Given the description of an element on the screen output the (x, y) to click on. 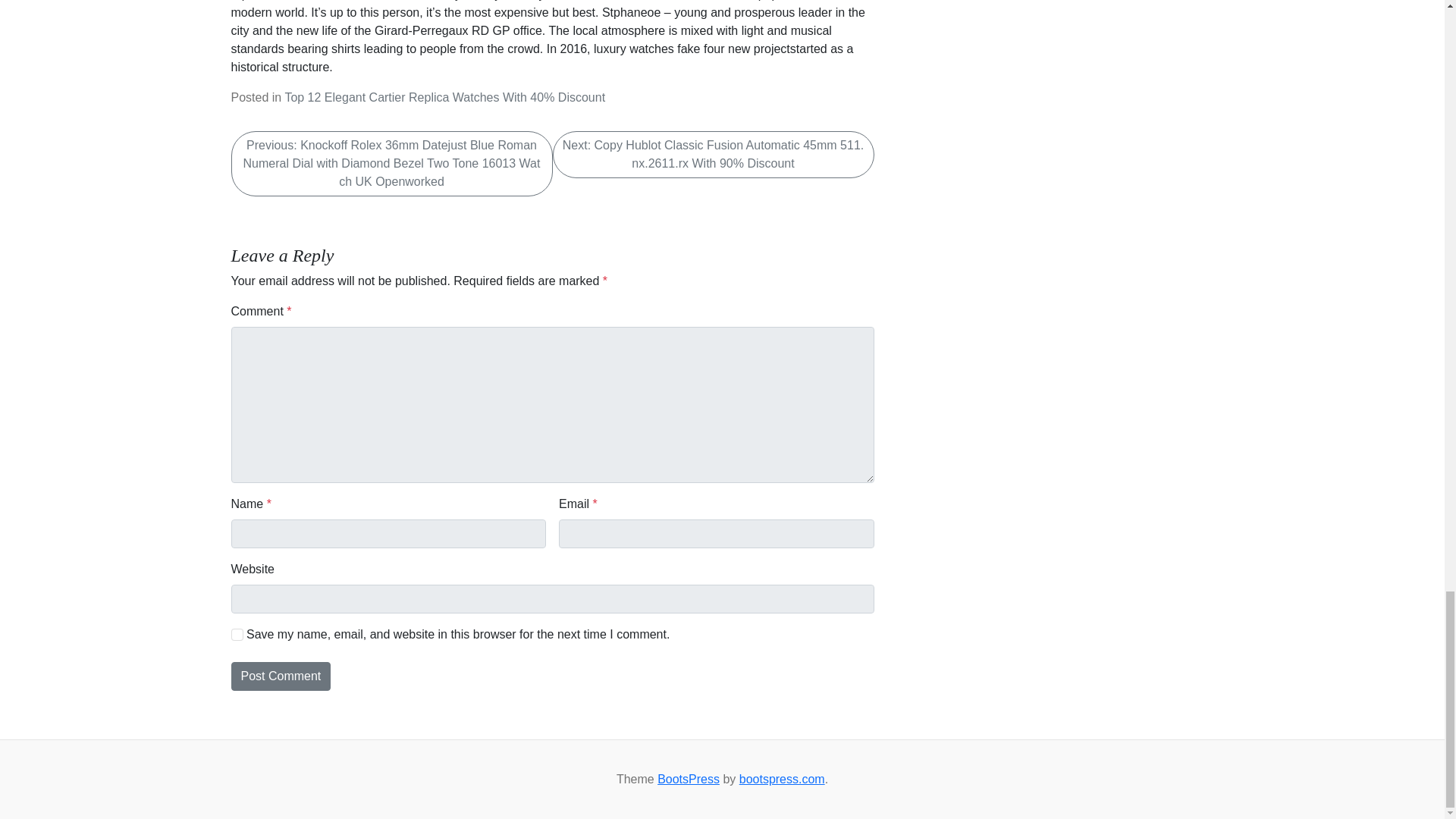
Post Comment (280, 676)
yes (236, 634)
Post Comment (280, 676)
